Given the description of an element on the screen output the (x, y) to click on. 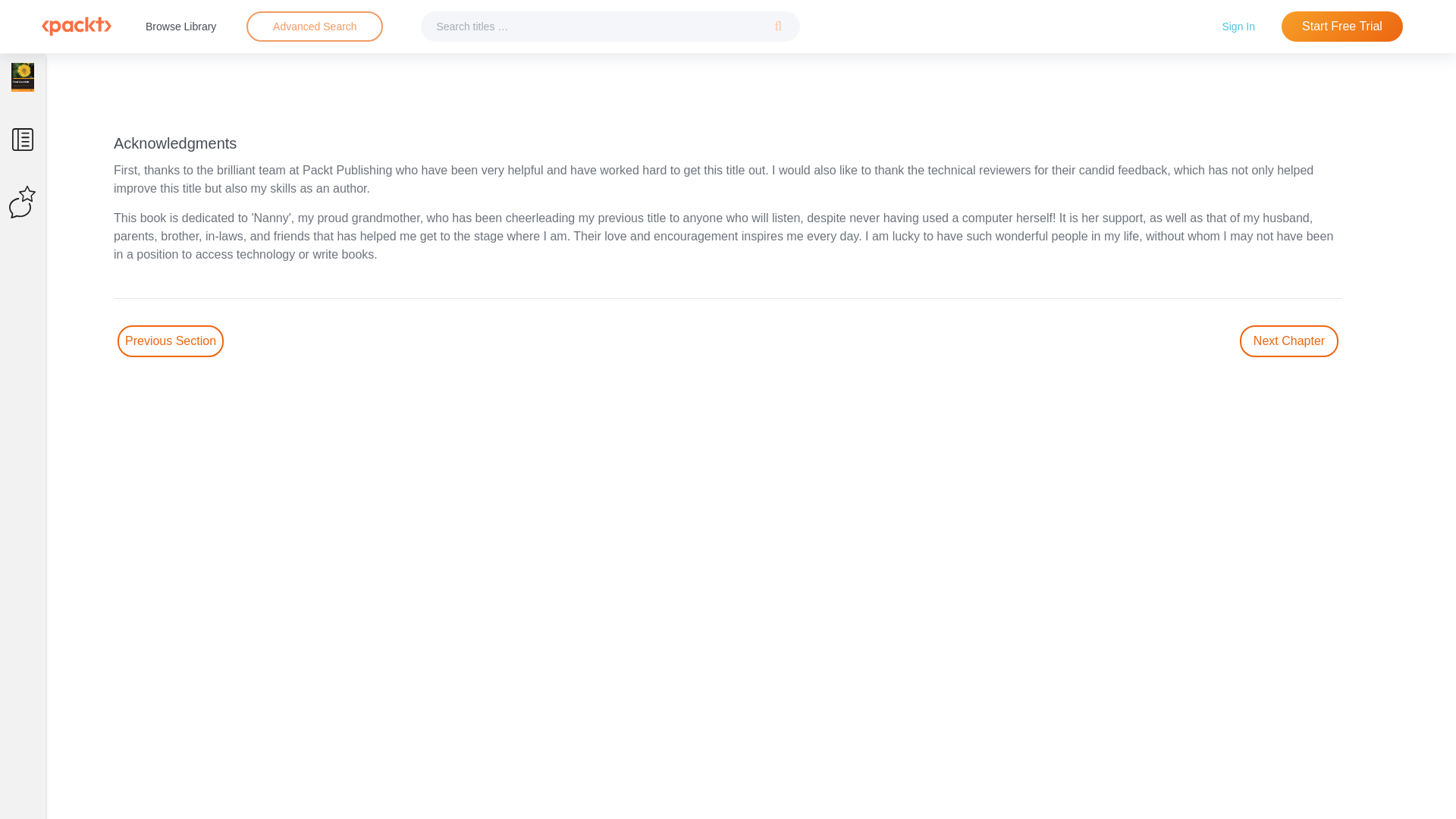
Advanced search (314, 26)
Advanced Search (315, 26)
Advanced Search (314, 26)
Sign In (1238, 26)
Start Free Trial (1342, 26)
Browse Library (180, 26)
Go to Previous section (170, 341)
Go to next section (1289, 341)
